Given the description of an element on the screen output the (x, y) to click on. 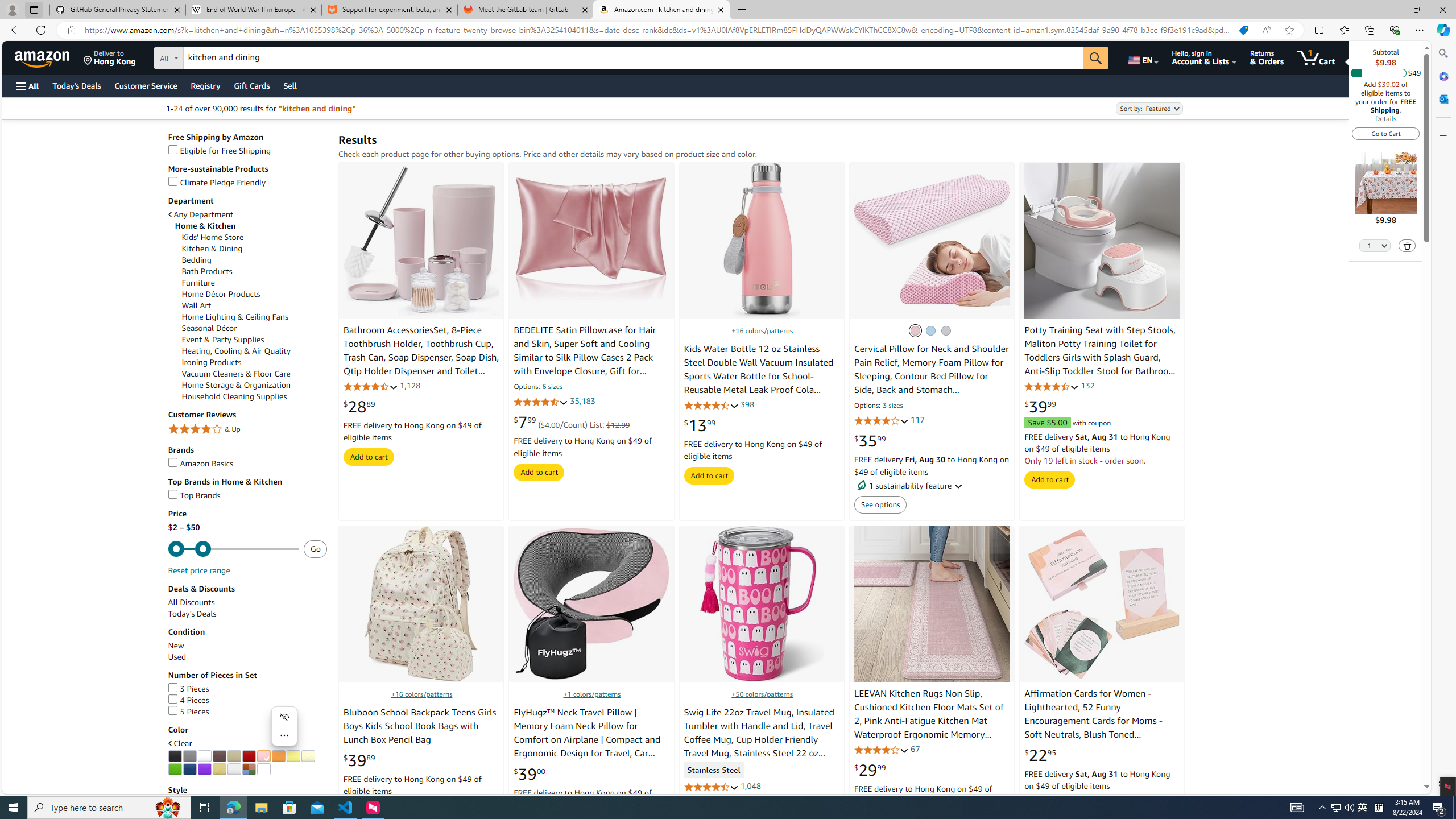
Meet the GitLab team | GitLab (525, 9)
Gold (218, 769)
Top Brands (247, 495)
Orange (277, 756)
Household Cleaning Supplies (234, 396)
AutomationID: p_n_feature_twenty_browse-bin/3254114011 (263, 769)
AutomationID: p_n_feature_twenty_browse-bin/3254098011 (174, 756)
Go back to filtering menu (48, 788)
AutomationID: p_n_feature_twenty_browse-bin/3254101011 (218, 756)
Ironing Products (254, 362)
Bedding (196, 259)
